Given the description of an element on the screen output the (x, y) to click on. 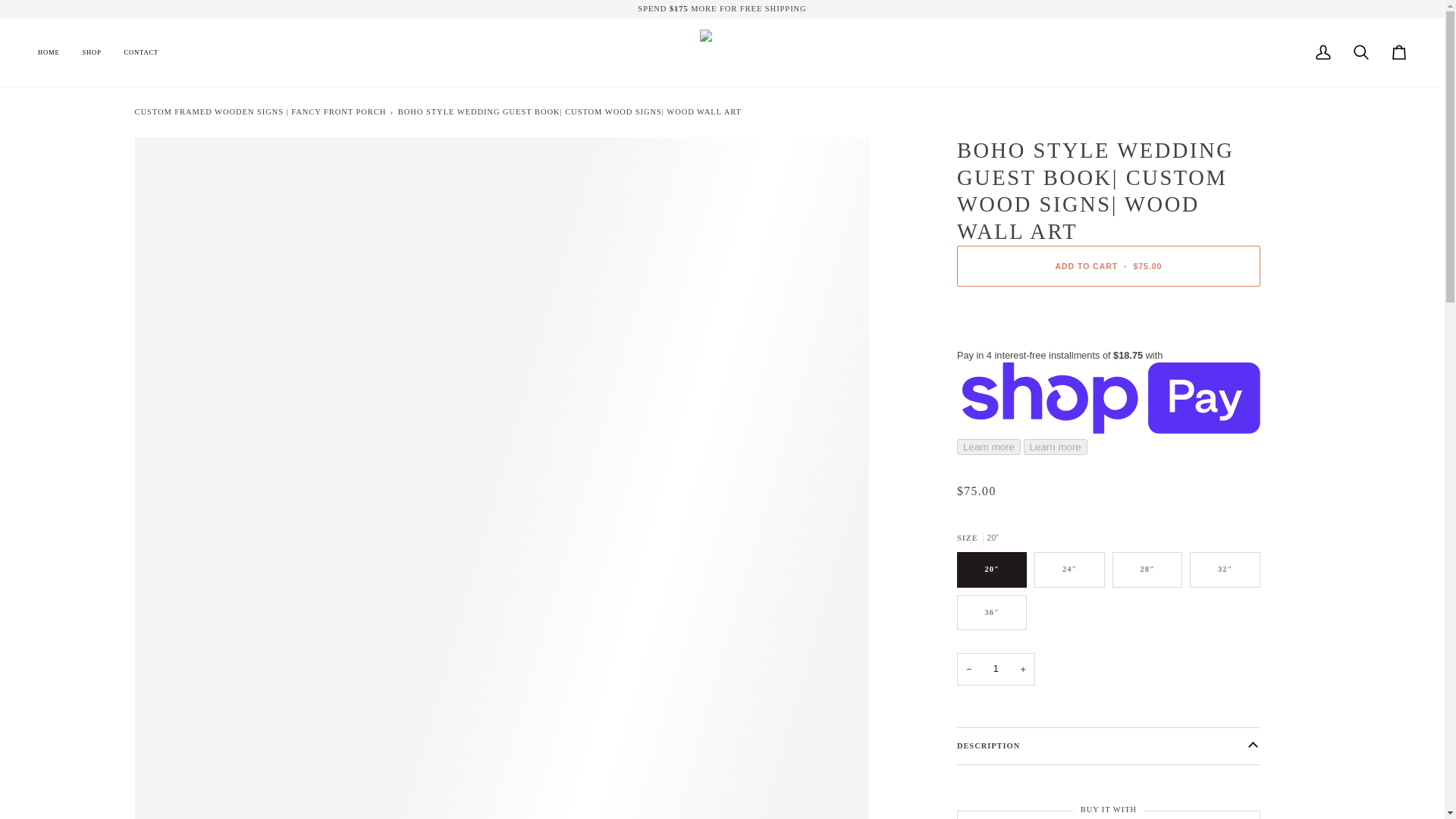
1 (995, 668)
CONTACT (141, 52)
SHOP (90, 52)
Search (1361, 52)
My Account (1323, 52)
HOME (53, 52)
Cart (1399, 52)
